Given the description of an element on the screen output the (x, y) to click on. 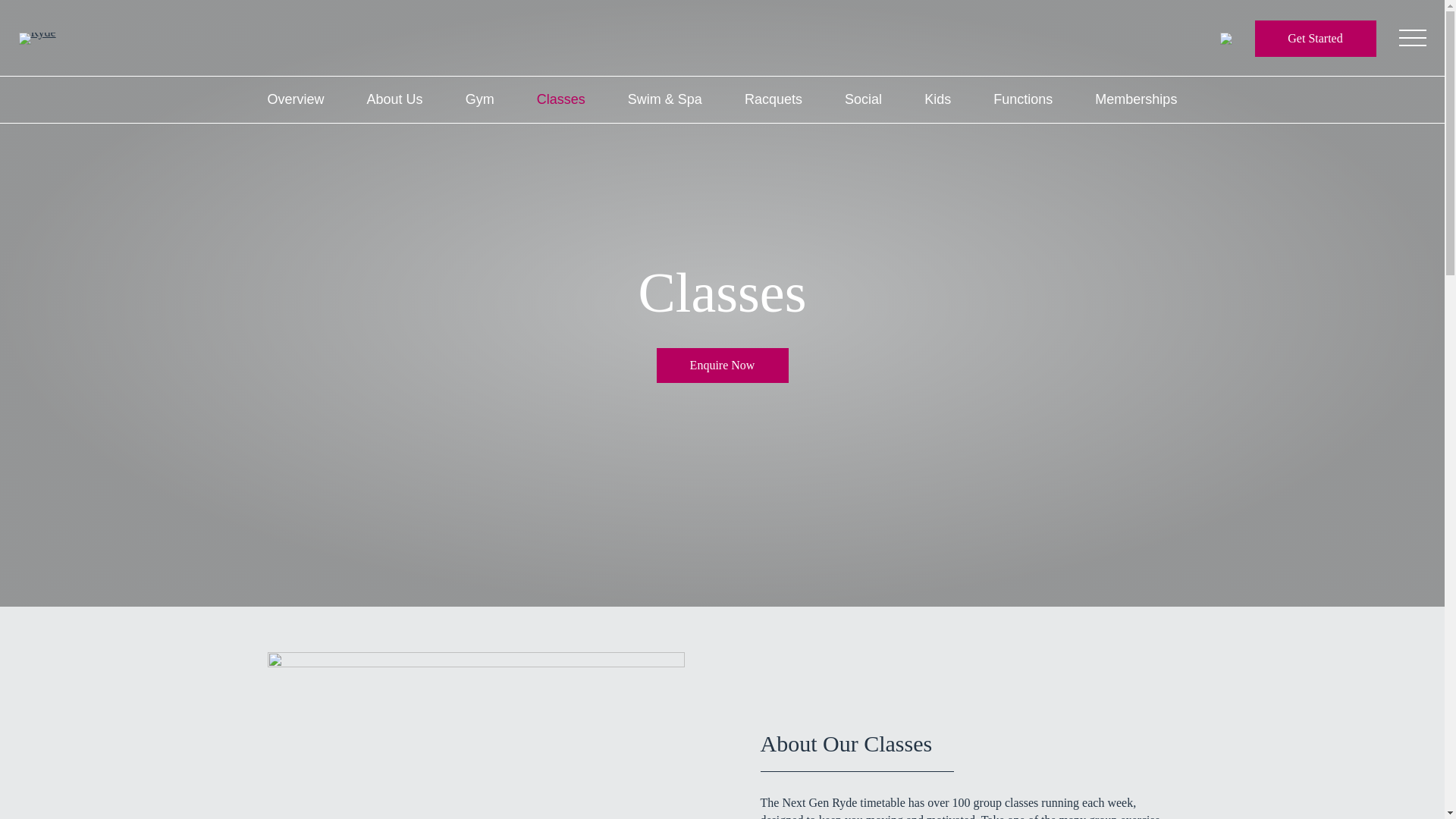
About Us (394, 99)
Racquets (773, 99)
Overview (294, 99)
Functions (1022, 99)
Classes (561, 99)
Memberships (1135, 99)
Get Started (1314, 38)
